Given the description of an element on the screen output the (x, y) to click on. 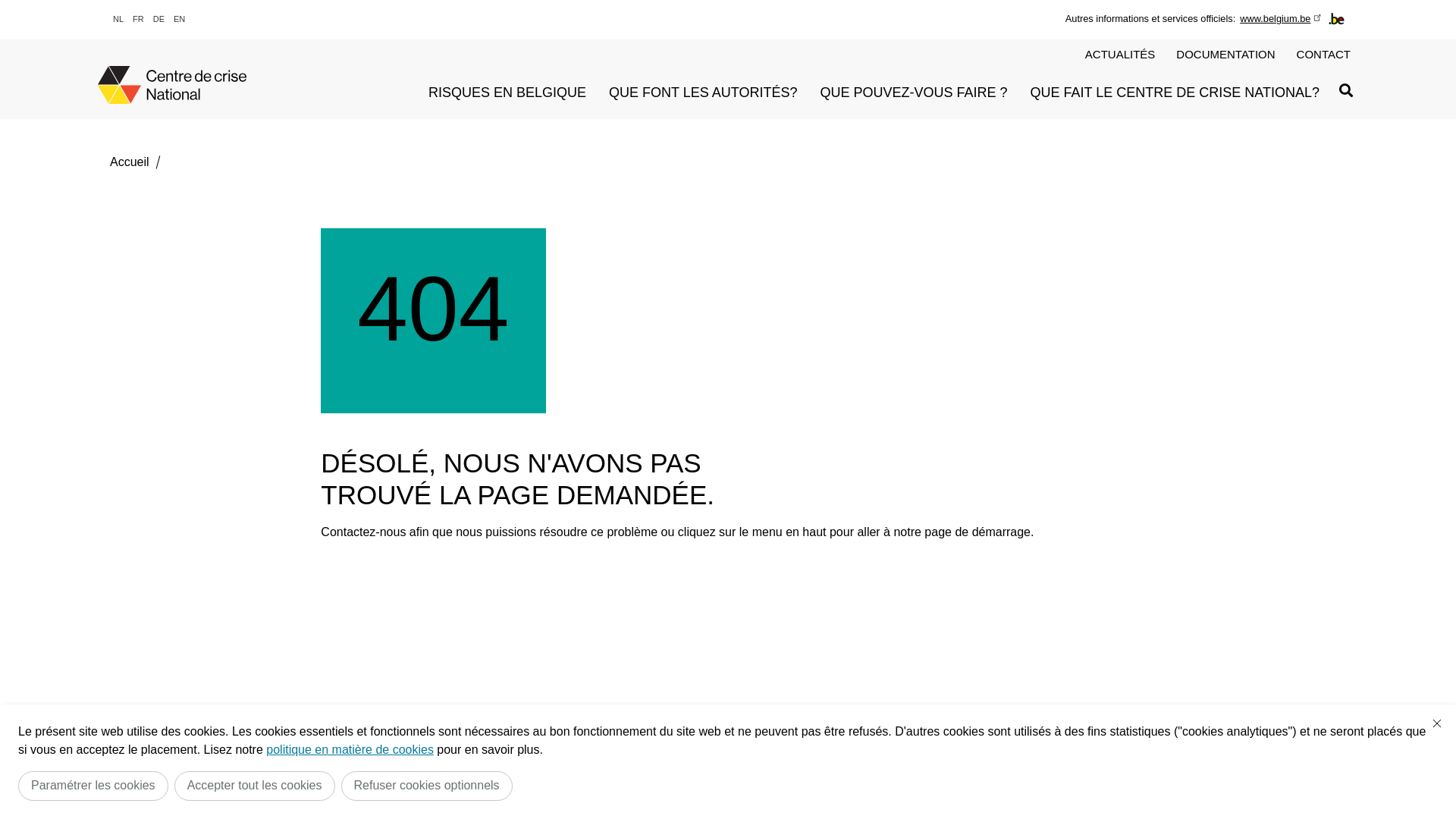
DOCUMENTATION Element type: text (1225, 55)
DE Element type: text (158, 19)
Aller au contenu principal Element type: text (7, 4)
Conditions d'utilisation Element type: text (158, 791)
NL Element type: text (117, 19)
LinkedIn(le lien est externe) Element type: text (1194, 793)
Refuser cookies optionnels Element type: text (426, 785)
RISQUES EN BELGIQUE Element type: text (507, 94)
www.belgium.be(le lien est externe) Element type: text (1281, 18)
Accepter tout les cookies Element type: text (254, 785)
Fermer Element type: hover (1436, 723)
YouTube(le lien est externe) Element type: text (1330, 793)
FR Element type: text (138, 19)
www.be-alert.be Element type: text (1106, 791)
Facebook(le lien est externe) Element type: text (1285, 793)
CONTACT Element type: text (1323, 55)
QUE FAIT LE CENTRE DE CRISE NATIONAL? Element type: text (1174, 94)
Accueil Element type: text (129, 161)
QUE POUVEZ-VOUS FAIRE ? Element type: text (914, 94)
Twitter(le lien est externe) Element type: text (1239, 793)
Show search function Element type: text (1345, 90)
EN Element type: text (179, 19)
